Given the description of an element on the screen output the (x, y) to click on. 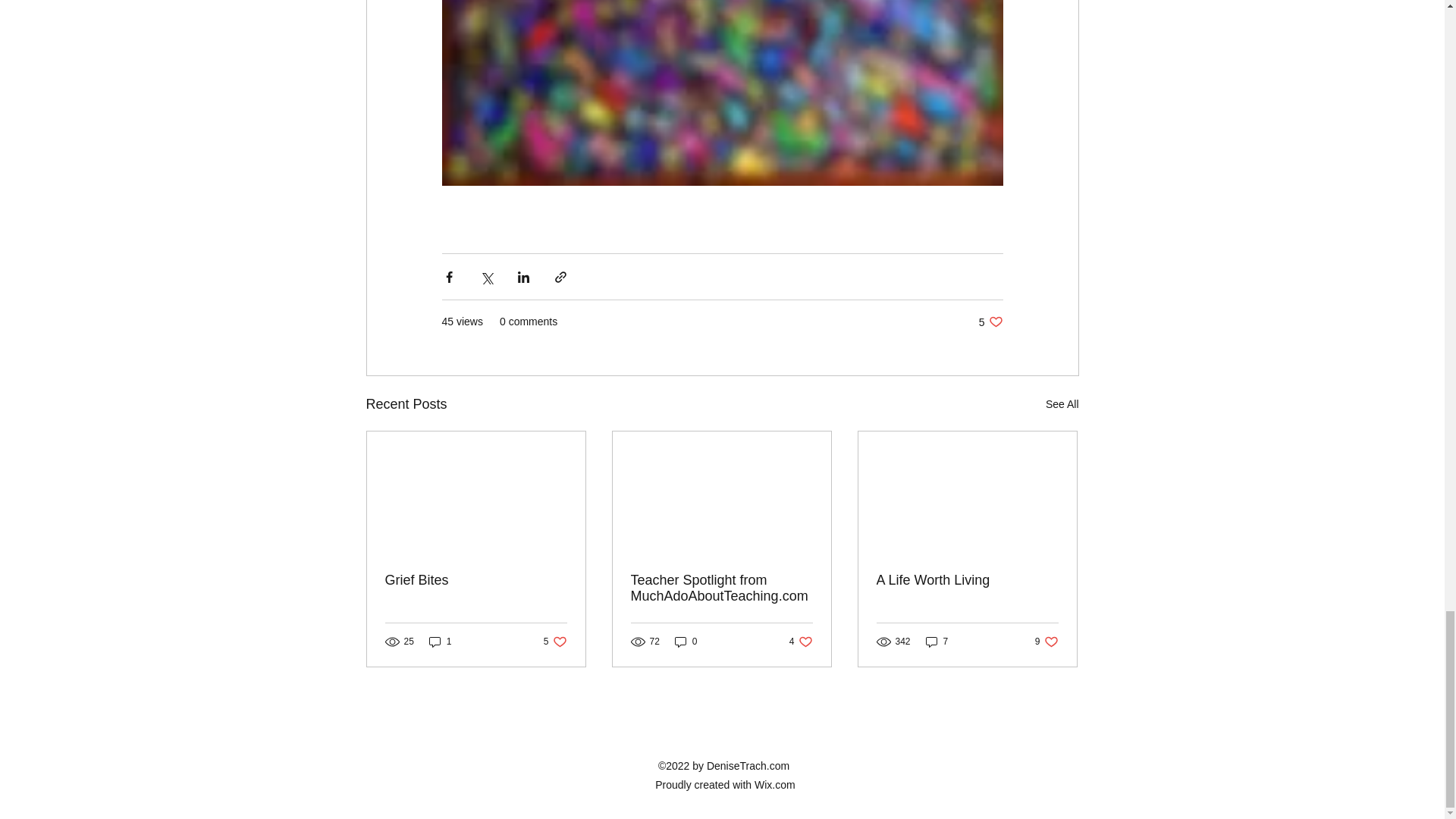
1 (440, 641)
See All (1061, 404)
A Life Worth Living (1046, 641)
Grief Bites (800, 641)
Teacher Spotlight from MuchAdoAboutTeaching.com (990, 321)
7 (967, 580)
0 (476, 580)
